Given the description of an element on the screen output the (x, y) to click on. 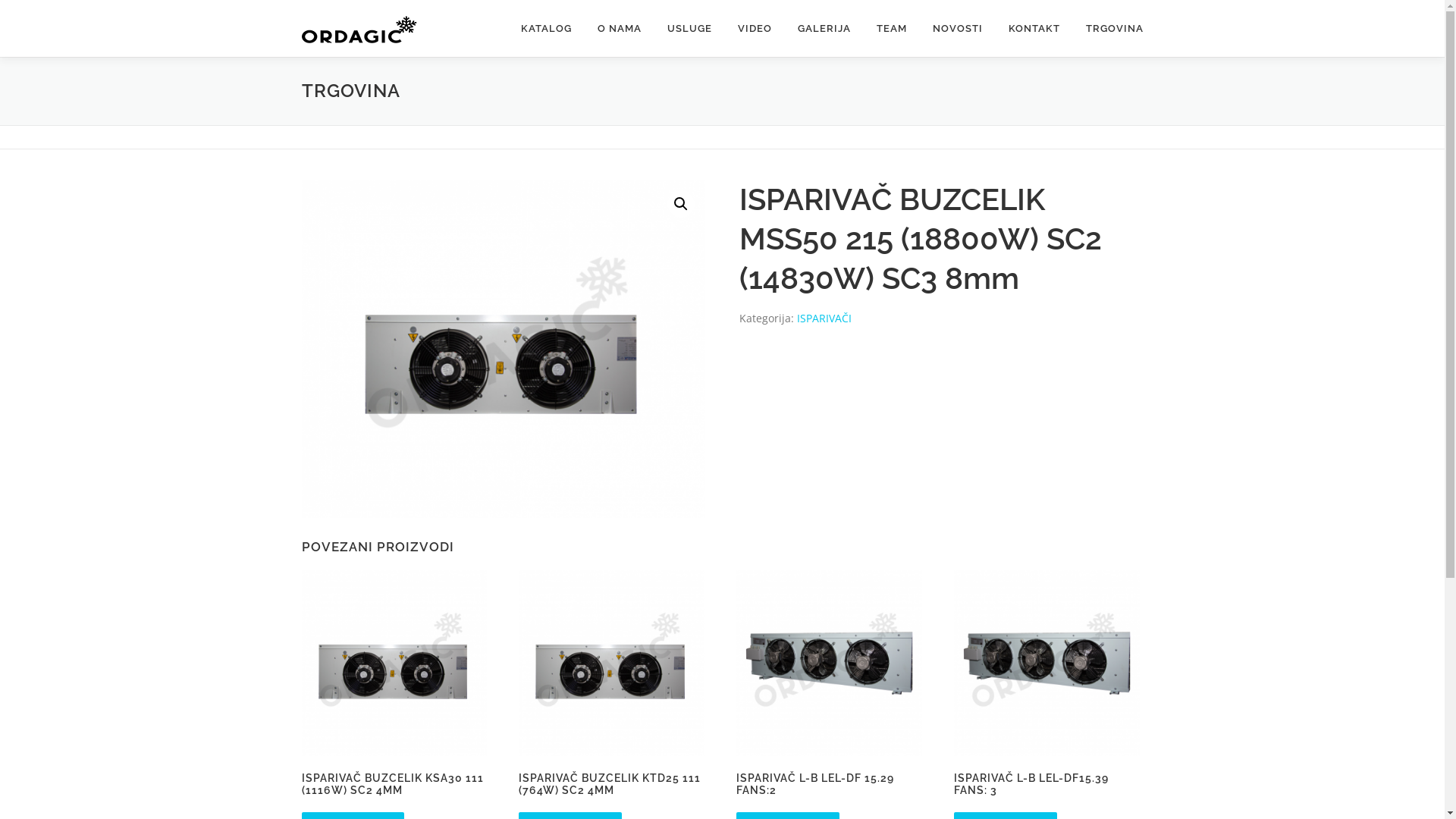
KONTAKT Element type: text (1033, 28)
O NAMA Element type: text (618, 28)
USLUGE Element type: text (688, 28)
TEAM Element type: text (890, 28)
NOVOSTI Element type: text (956, 28)
TRGOVINA Element type: text (1107, 28)
VIDEO Element type: text (754, 28)
GALERIJA Element type: text (823, 28)
Skip to content Element type: text (0, 0)
KATALOG Element type: text (546, 28)
kkkkkkkkkk Element type: hover (503, 348)
